Given the description of an element on the screen output the (x, y) to click on. 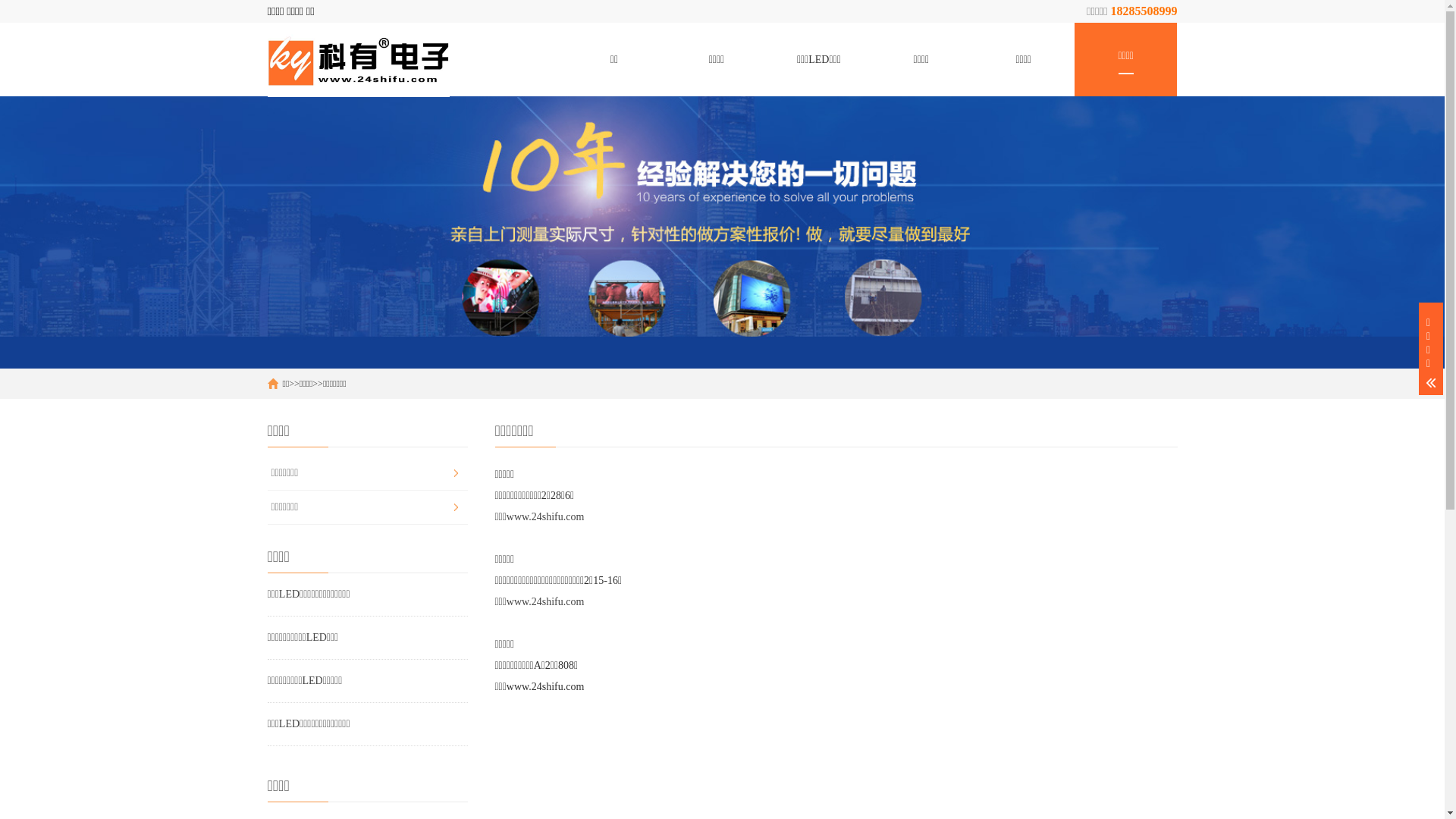
www.24shifu.com Element type: text (545, 516)
www.24shifu.com Element type: text (545, 601)
